Given the description of an element on the screen output the (x, y) to click on. 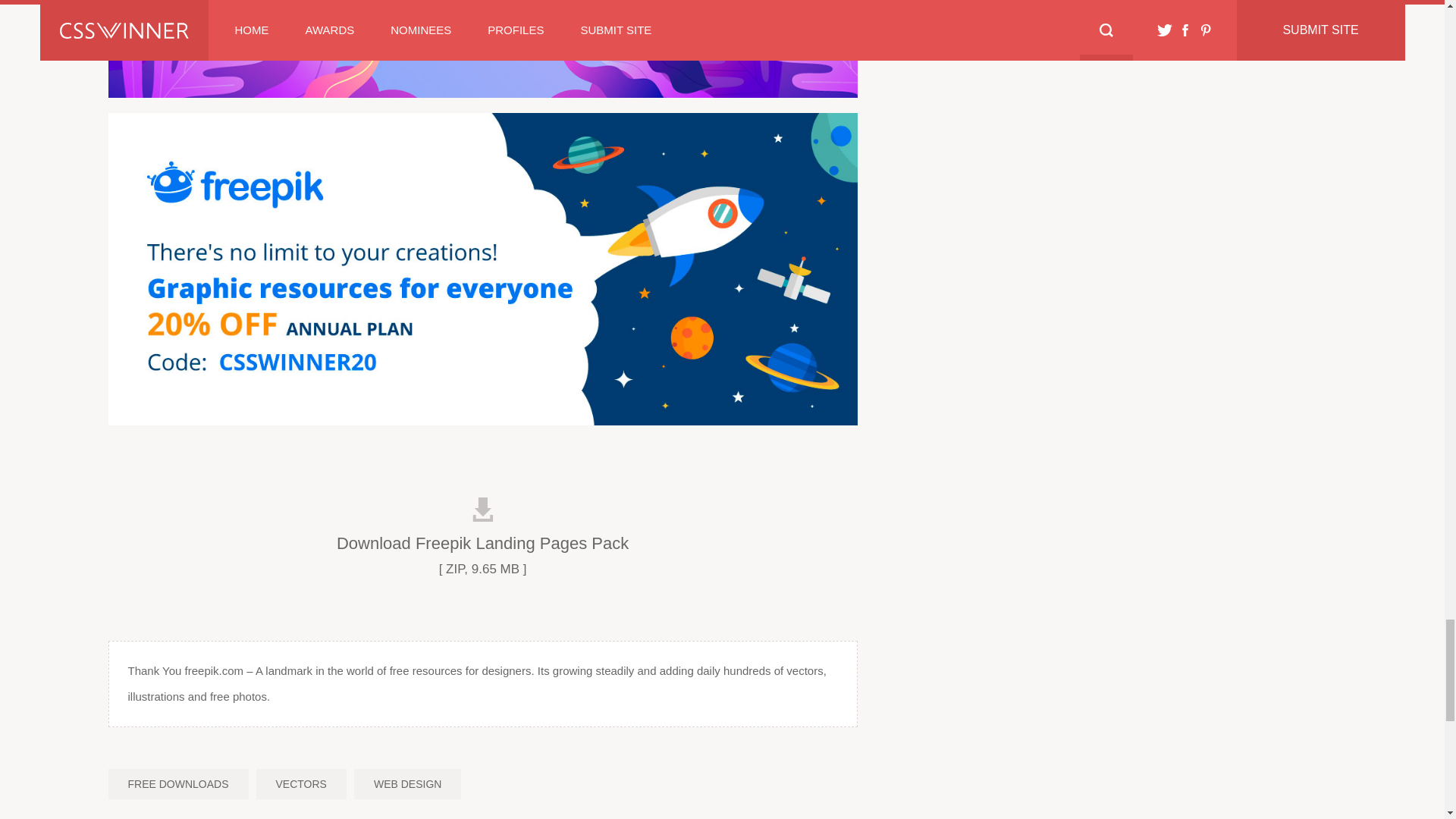
WEB DESIGN (407, 784)
Download Freepik Landing Pages Pack (482, 526)
FREE DOWNLOADS (177, 784)
VECTORS (301, 784)
